Given the description of an element on the screen output the (x, y) to click on. 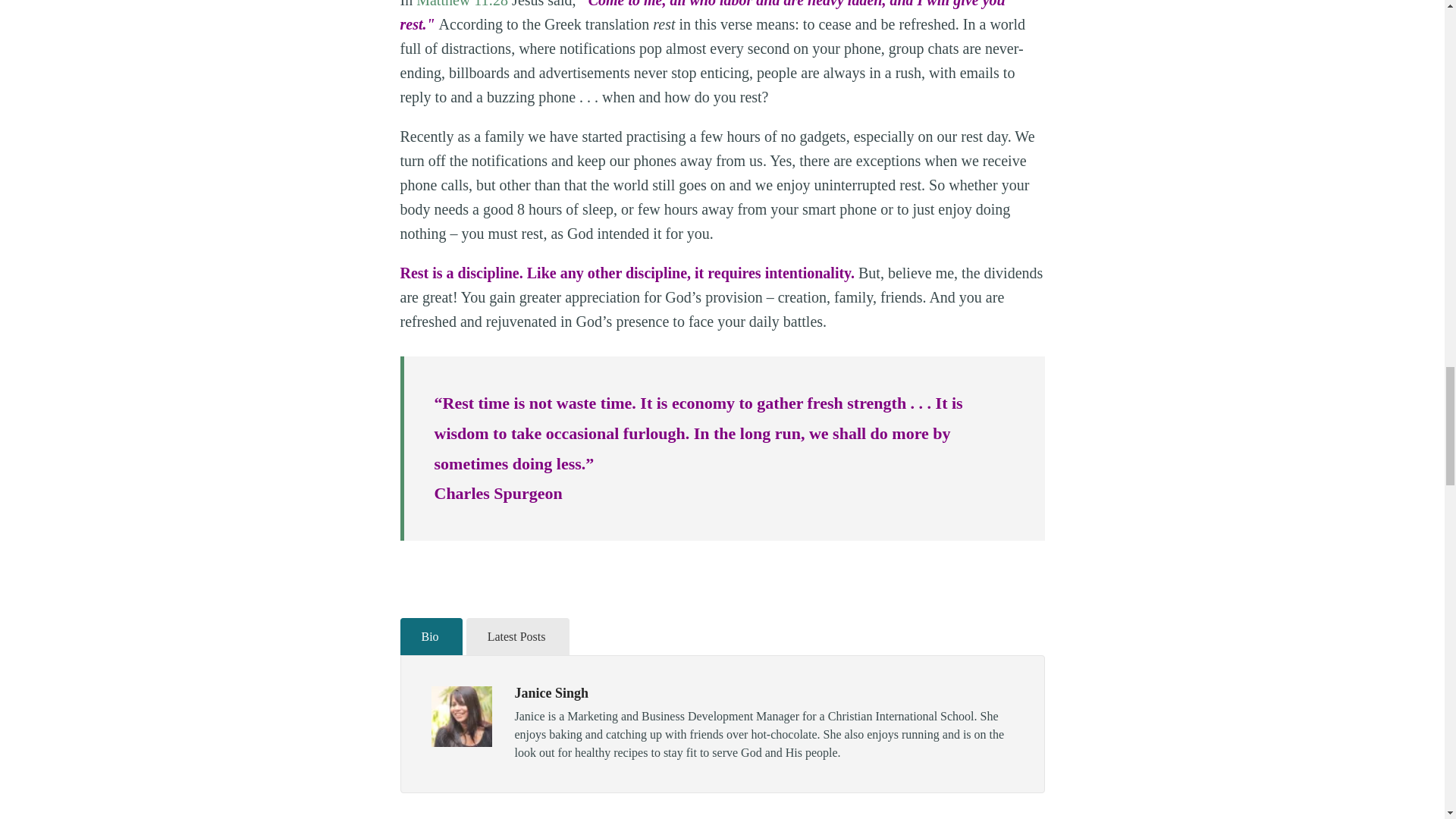
Matthew 11:28 (462, 4)
Bio (431, 636)
Latest Posts (517, 636)
